Given the description of an element on the screen output the (x, y) to click on. 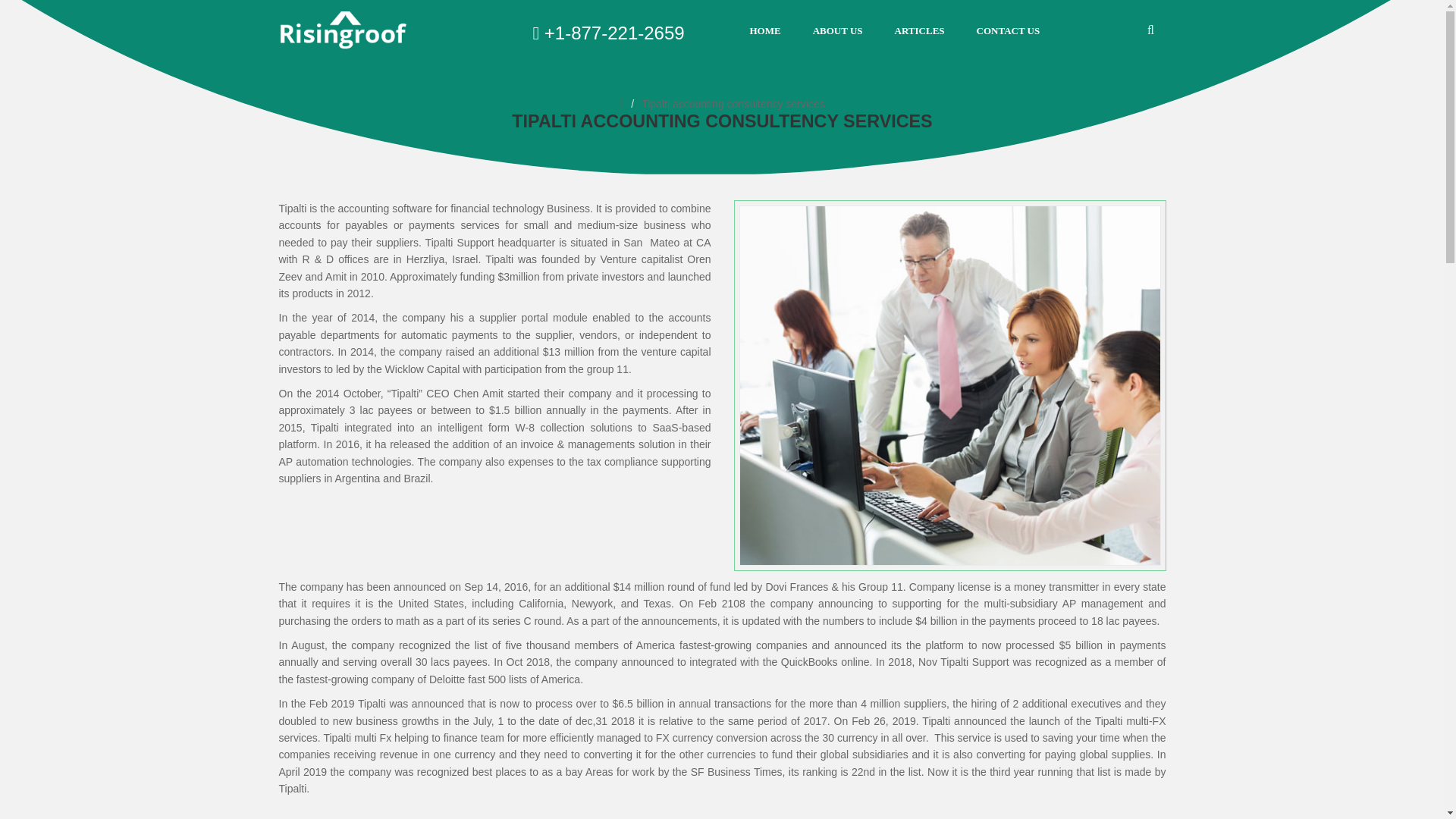
ARTICLES (918, 30)
Rising Roof (343, 30)
ABOUT US (837, 30)
CONTACT US (1008, 30)
